Given the description of an element on the screen output the (x, y) to click on. 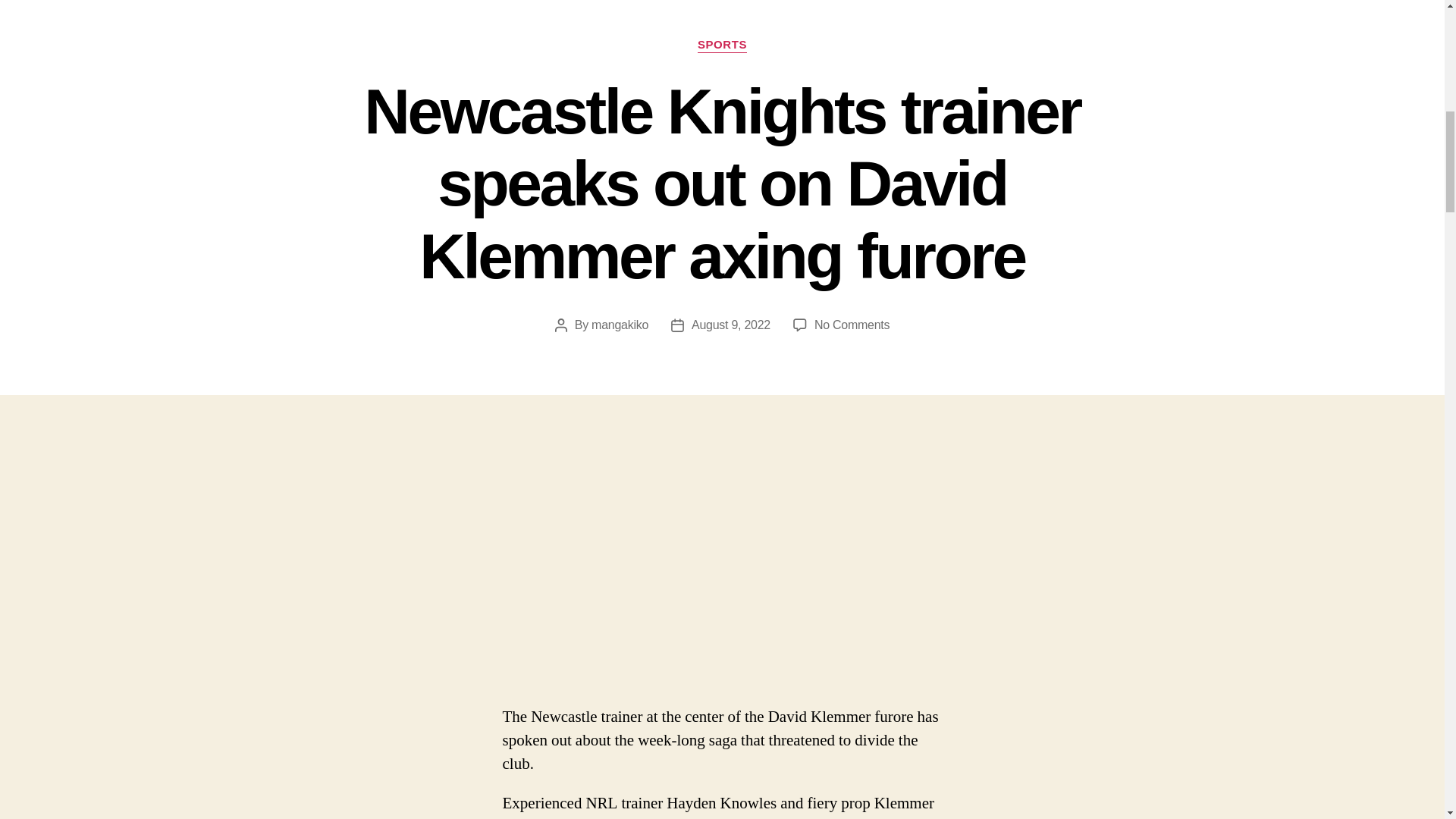
SPORTS (721, 45)
mangakiko (619, 324)
August 9, 2022 (730, 324)
